Given the description of an element on the screen output the (x, y) to click on. 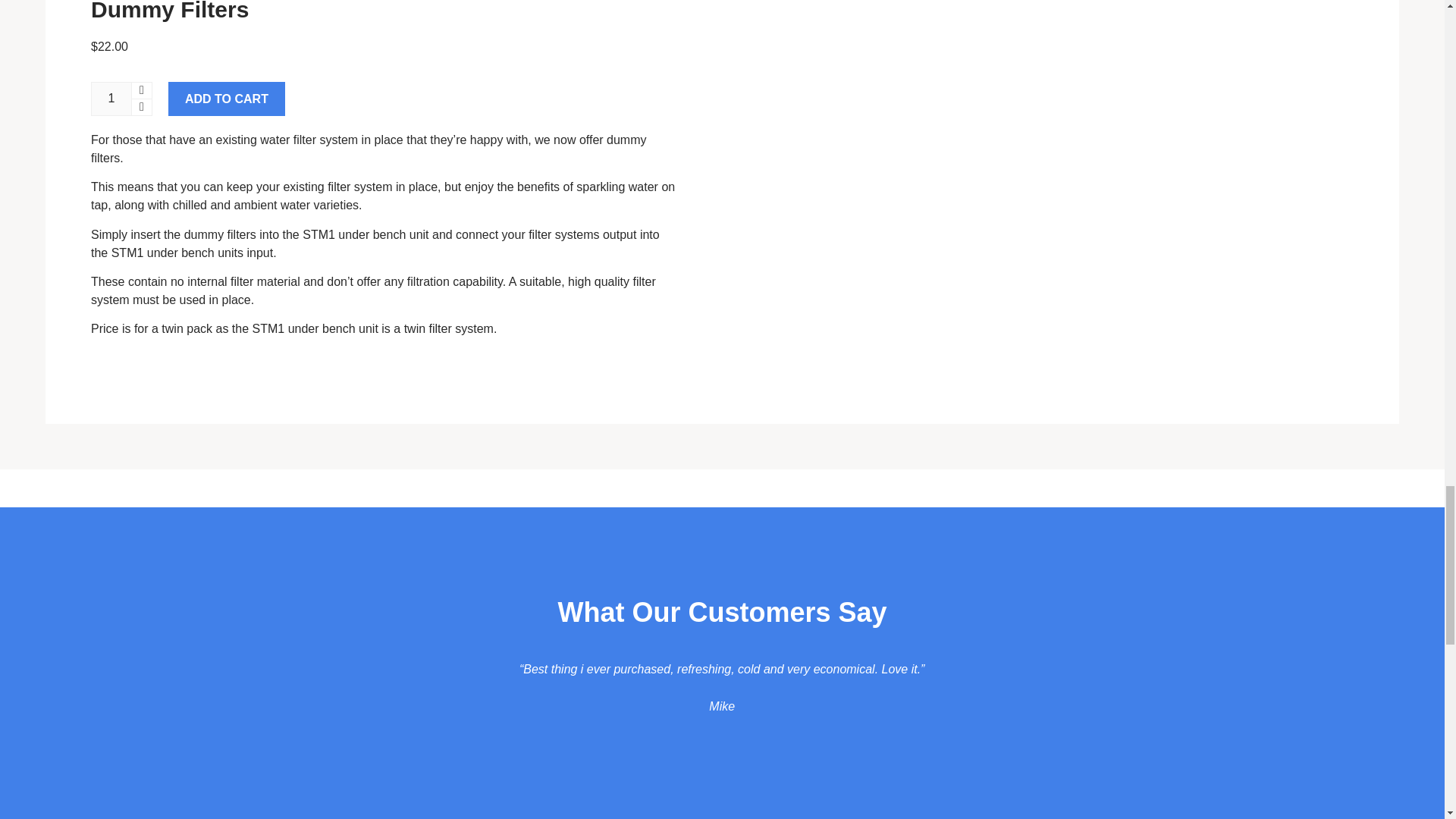
ADD TO CART (226, 98)
Dummy Filters (169, 11)
1 (111, 98)
